Given the description of an element on the screen output the (x, y) to click on. 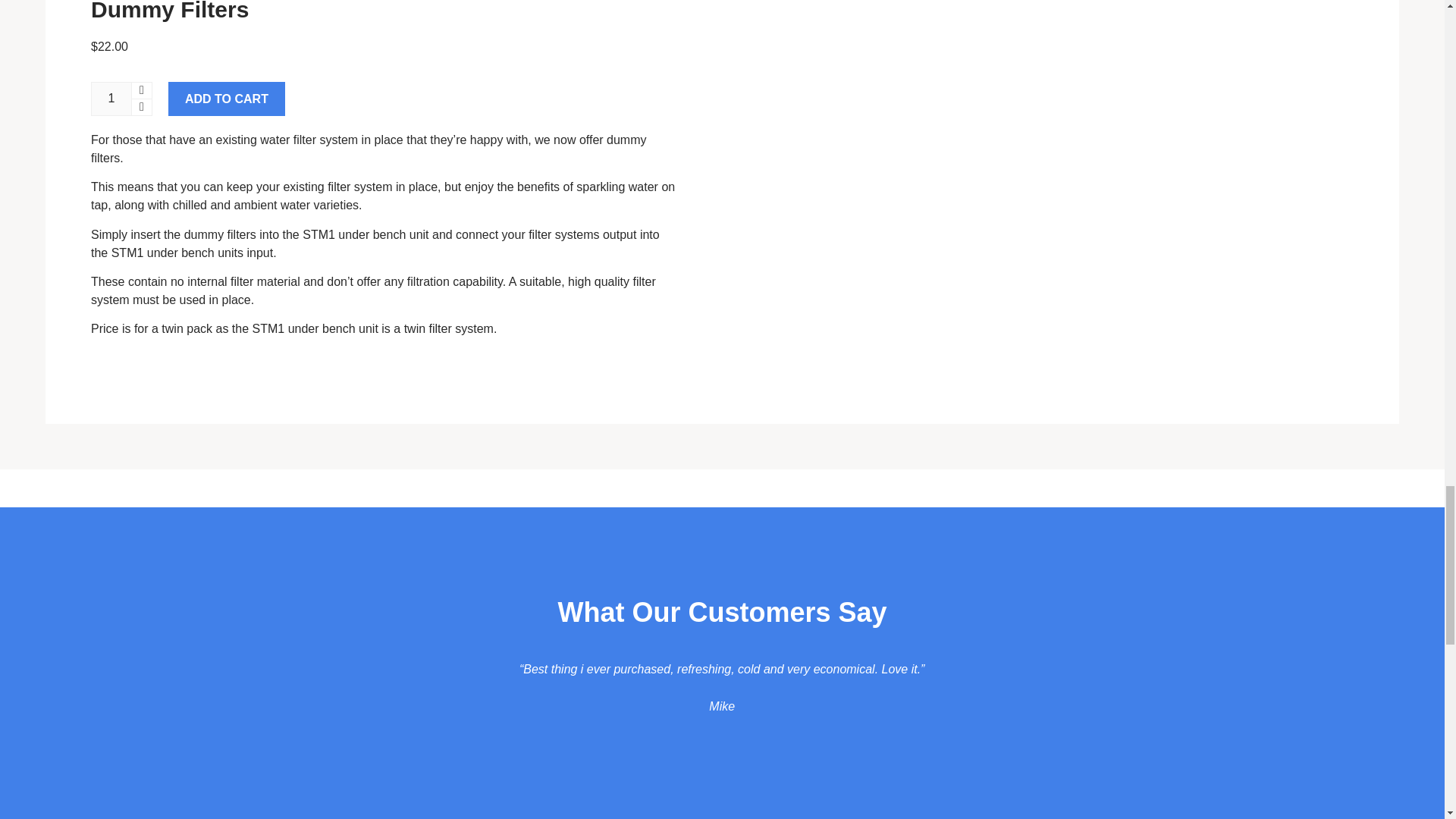
ADD TO CART (226, 98)
Dummy Filters (169, 11)
1 (111, 98)
